Given the description of an element on the screen output the (x, y) to click on. 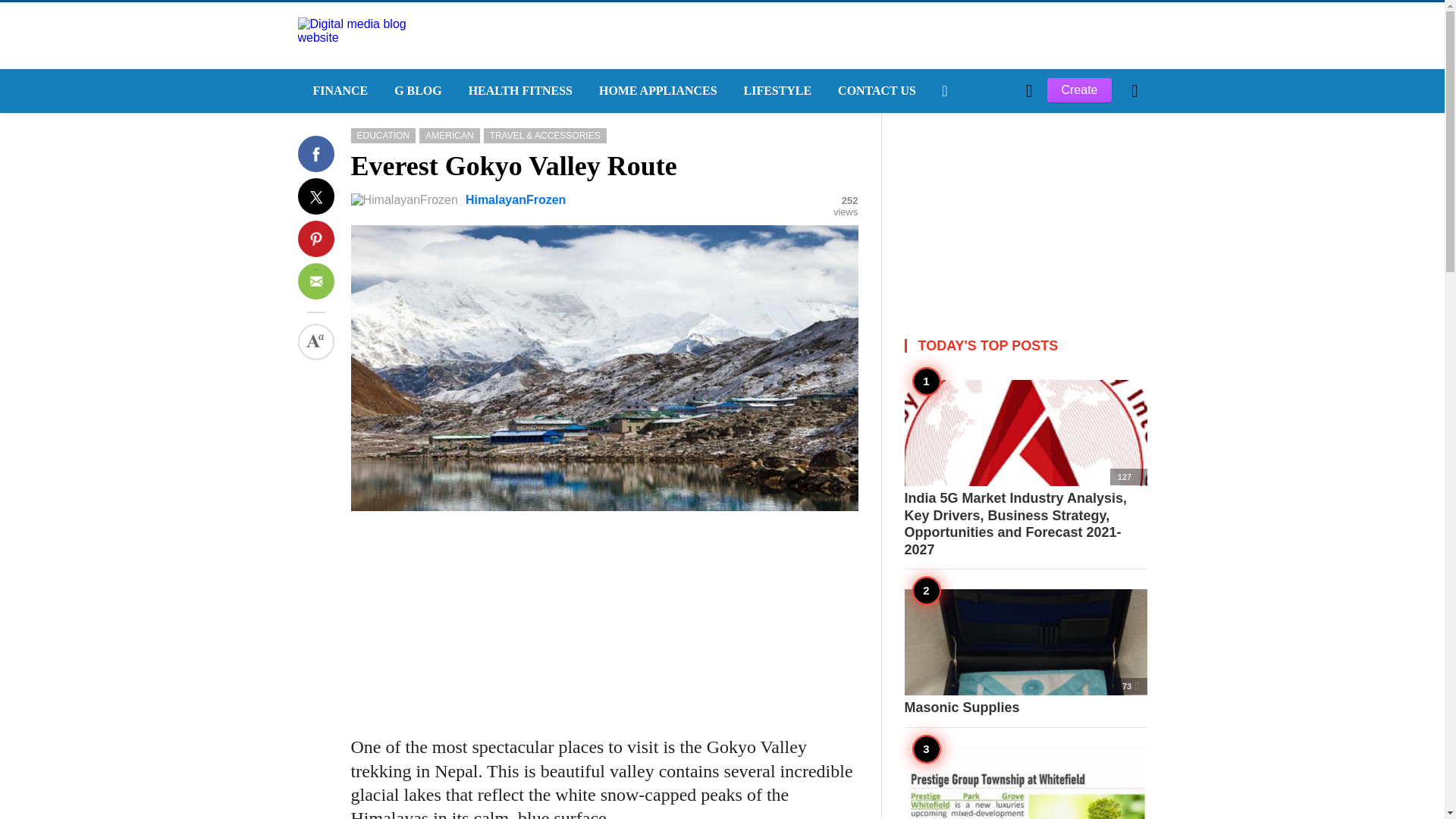
Log in (962, 347)
LIFESTYLE (776, 90)
FINANCE (337, 90)
CONTACT US (874, 90)
G BLOG (415, 90)
HEALTH FITNESS (517, 90)
HOME APPLIANCES (656, 90)
Masonic Supplies (1025, 652)
